Given the description of an element on the screen output the (x, y) to click on. 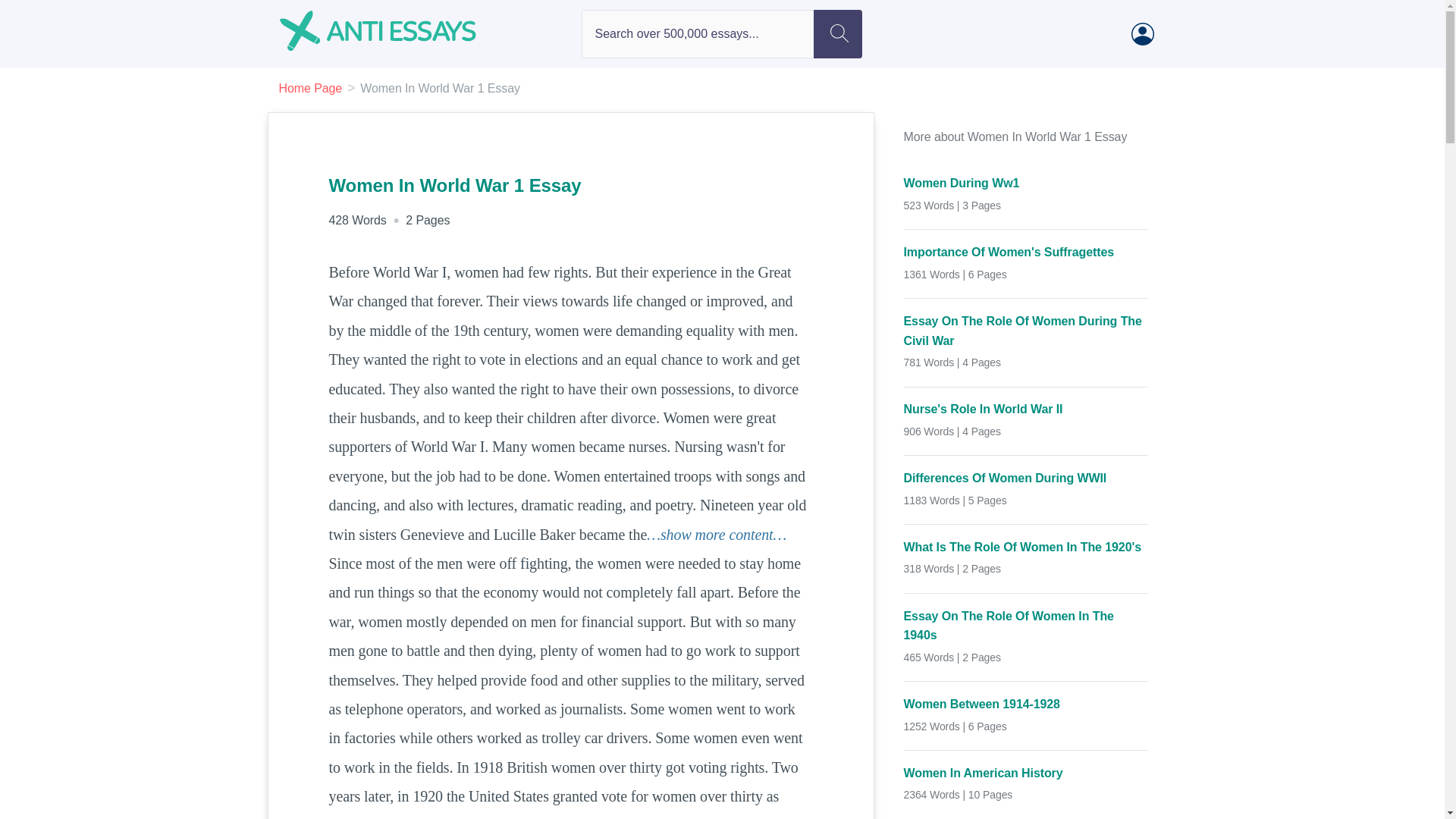
Nurse's Role In World War II (1026, 409)
Women During Ww1 (1026, 183)
Women Between 1914-1928 (1026, 704)
Essay On The Role Of Women During The Civil War (1026, 331)
Home Page (310, 88)
Women In American History (1026, 772)
Essay On The Role Of Women In The 1940s (1026, 625)
What Is The Role Of Women In The 1920's (1026, 547)
Importance Of Women's Suffragettes (1026, 252)
Differences Of Women During WWII (1026, 478)
